Given the description of an element on the screen output the (x, y) to click on. 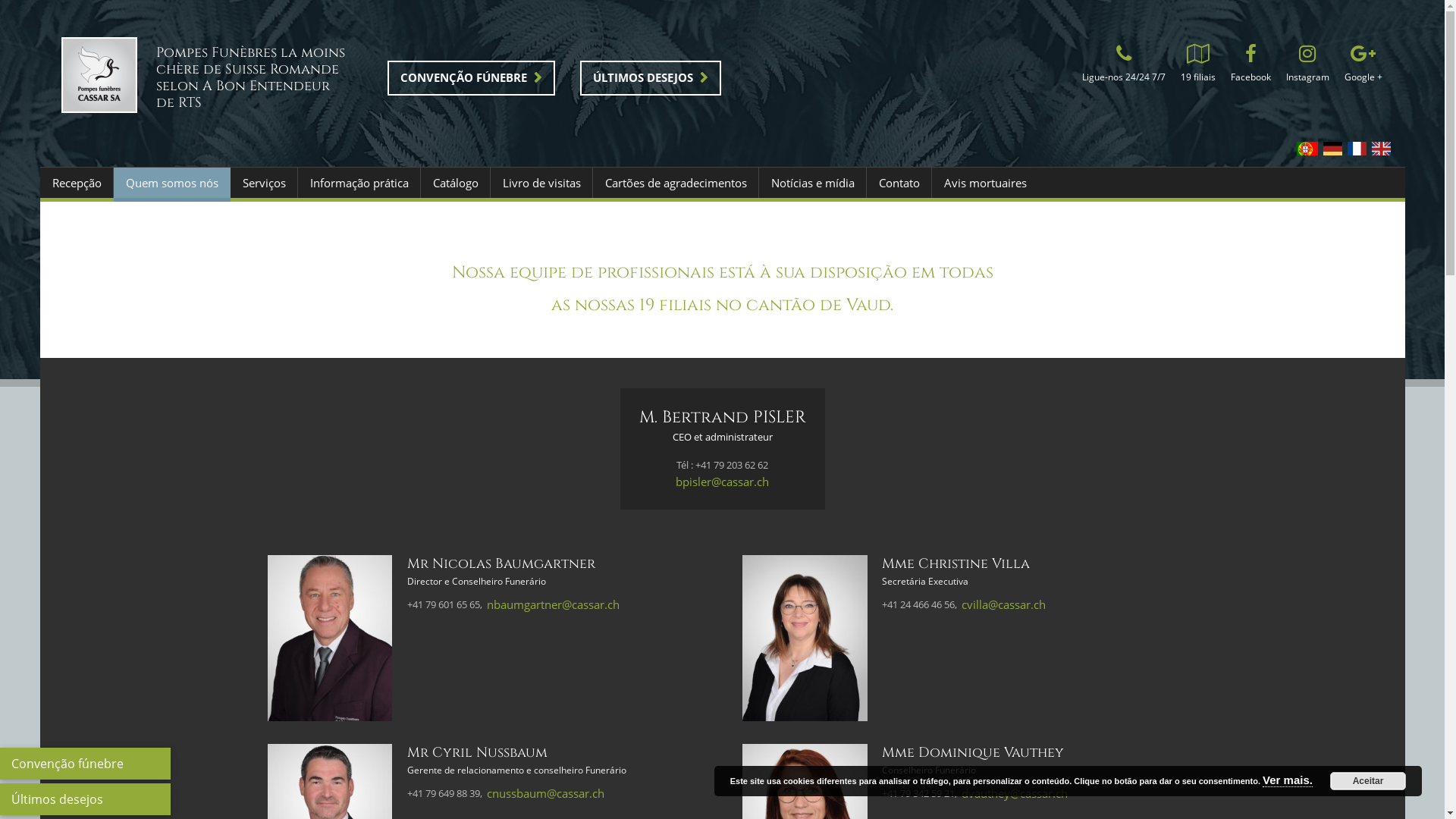
cnussbaum@cassar.ch Element type: text (545, 792)
nbaumgartner@cassar.ch Element type: text (552, 603)
Google + Element type: text (1362, 65)
Aceitar Element type: text (1367, 780)
cvilla@cassar.ch Element type: text (1003, 603)
Contato Element type: text (898, 182)
Ver mais. Element type: text (1287, 780)
Deutsch Element type: text (1331, 148)
English Element type: text (1380, 148)
Avis mortuaires Element type: text (984, 182)
Facebook Element type: text (1250, 65)
bpisler@cassar.ch Element type: text (721, 481)
19 filiais Element type: text (1196, 65)
Instagram Element type: text (1307, 65)
Ligue-nos 24/24 7/7 Element type: text (1122, 65)
Livro de visitas Element type: text (540, 182)
dvauthey@cassar.ch Element type: text (1014, 792)
